Given the description of an element on the screen output the (x, y) to click on. 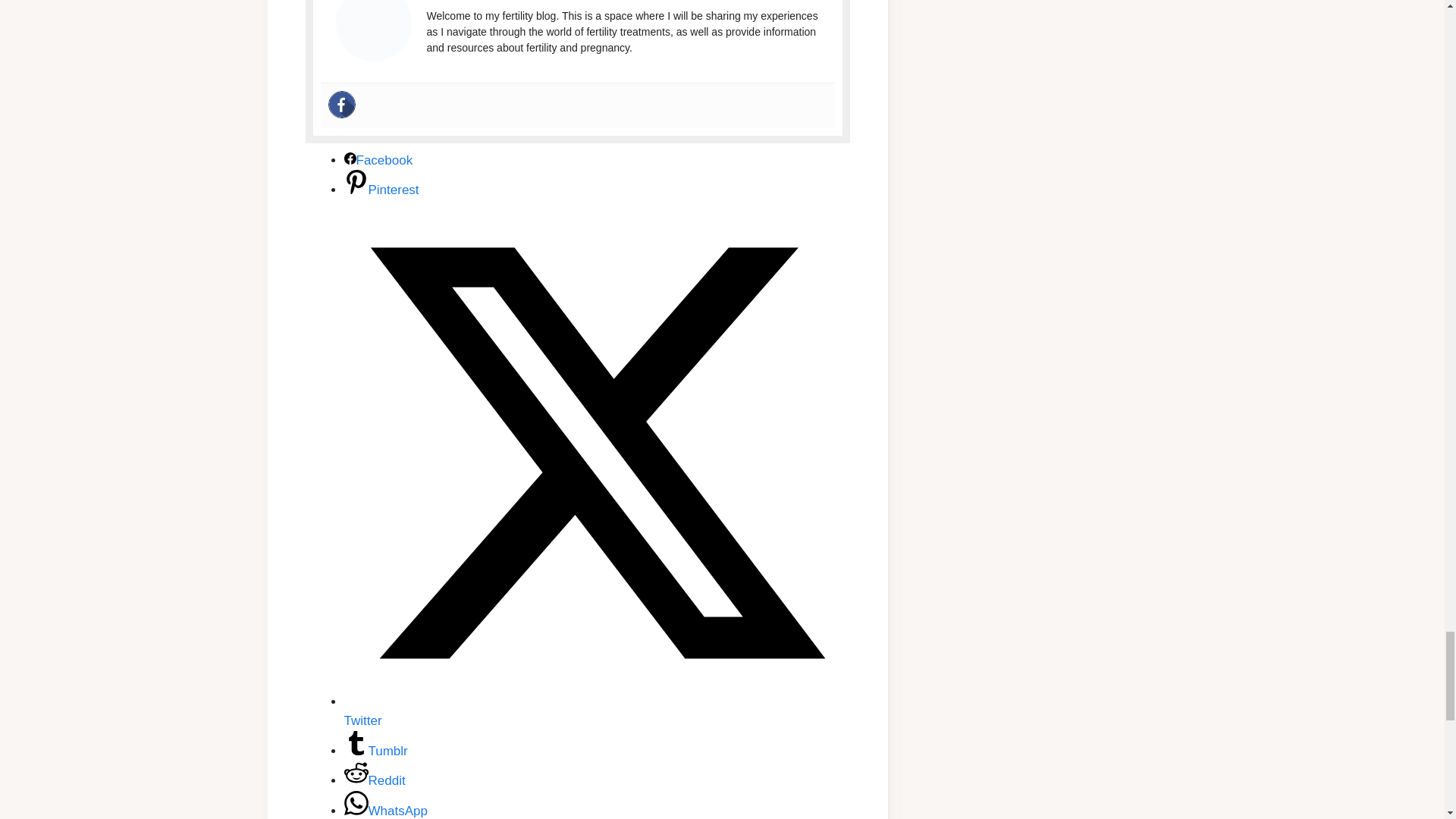
Tumblr (375, 750)
Twitter (596, 711)
Pinterest (381, 189)
Facebook (378, 160)
Irma Collins (461, 1)
